Given the description of an element on the screen output the (x, y) to click on. 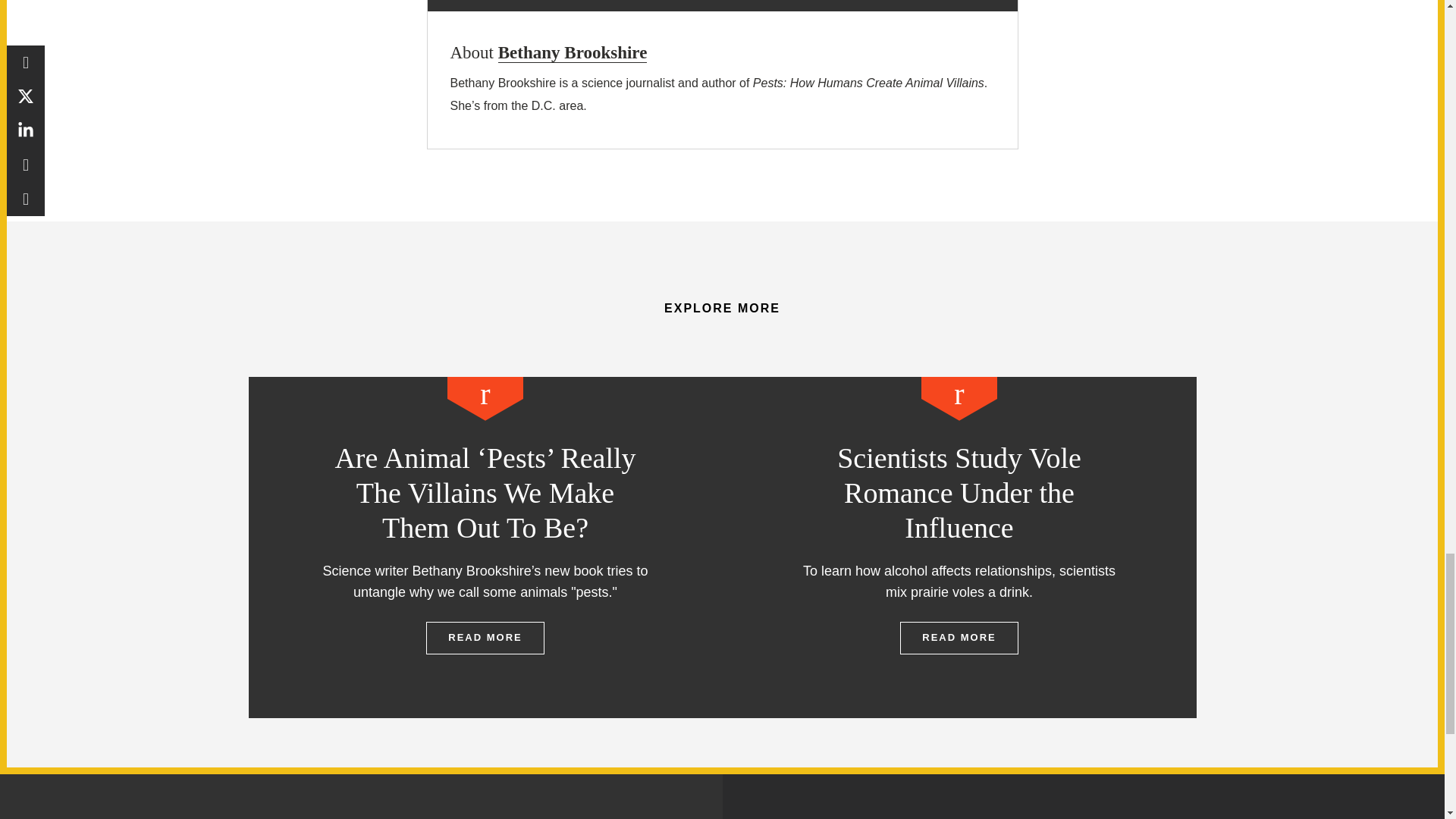
Segment (484, 397)
Read More (958, 637)
Read More (484, 637)
Segment (959, 397)
